Given the description of an element on the screen output the (x, y) to click on. 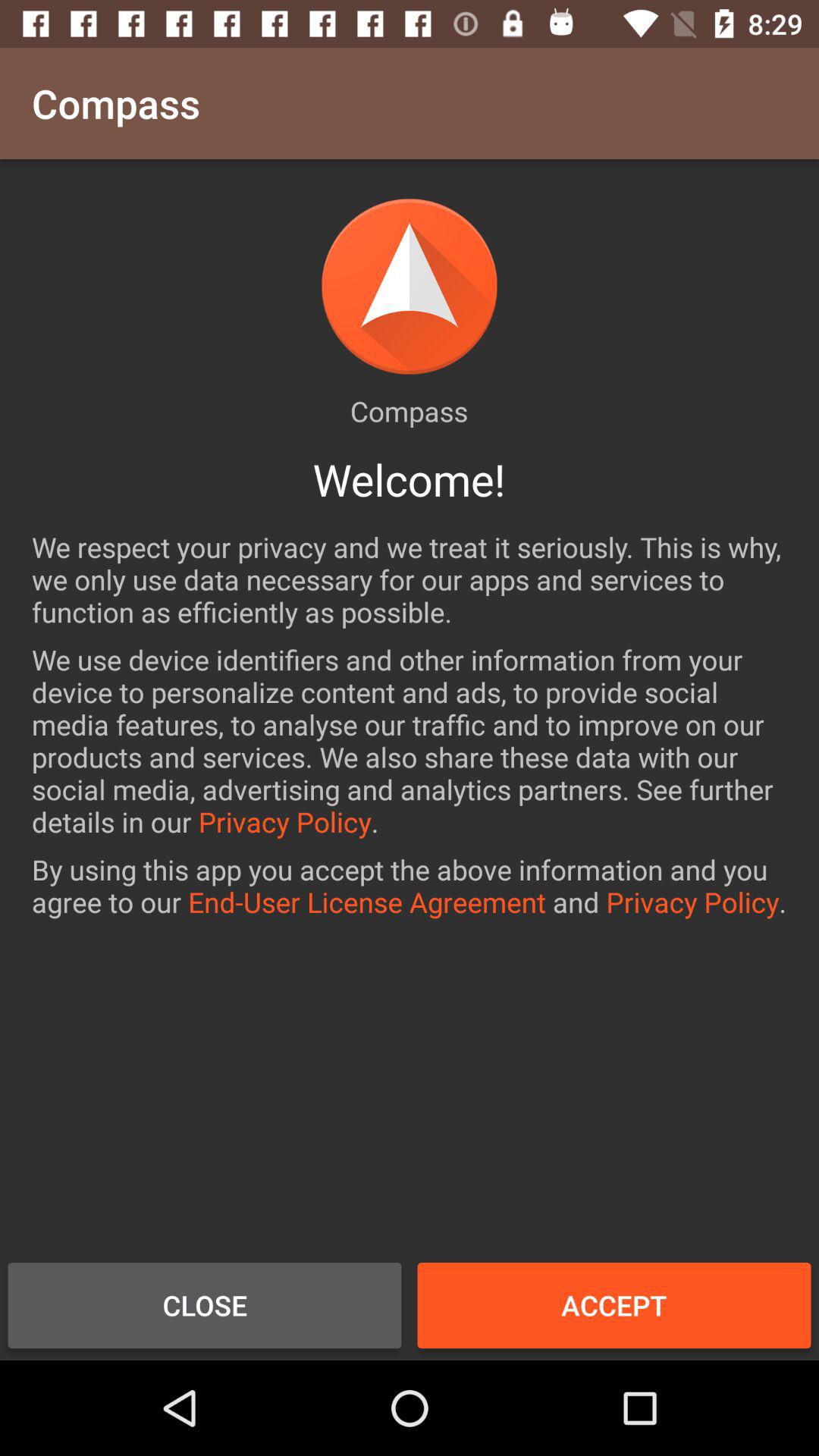
select item to the left of the accept (204, 1305)
